Given the description of an element on the screen output the (x, y) to click on. 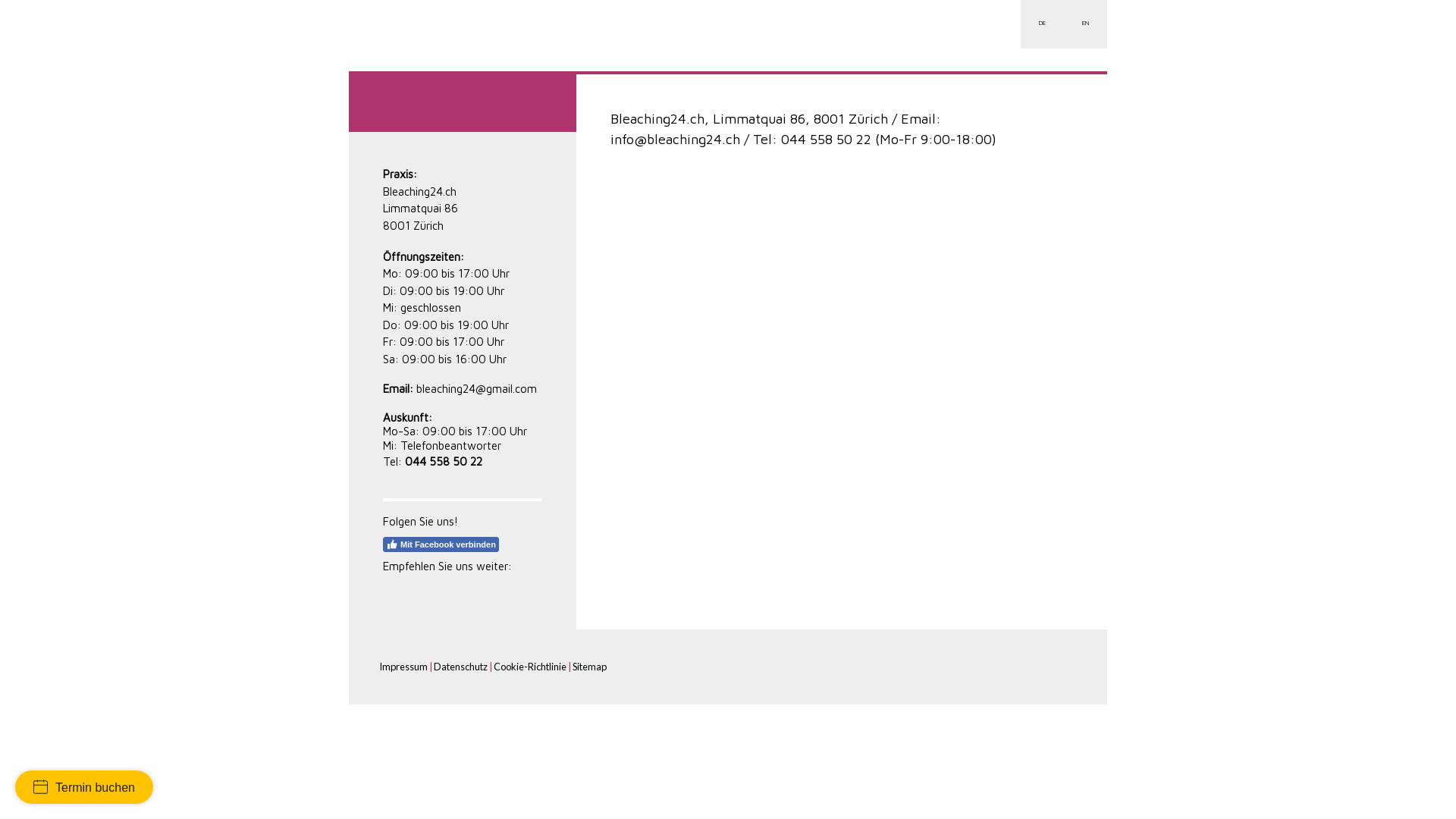
Mit Facebook verbinden Element type: text (440, 544)
Termin buchen Element type: text (84, 786)
Sitemap Element type: text (589, 666)
Cookie-Richtlinie Element type: text (529, 666)
Datenschutz Element type: text (460, 666)
DE Element type: text (1041, 24)
Impressum Element type: text (403, 666)
EN Element type: text (1085, 24)
